Given the description of an element on the screen output the (x, y) to click on. 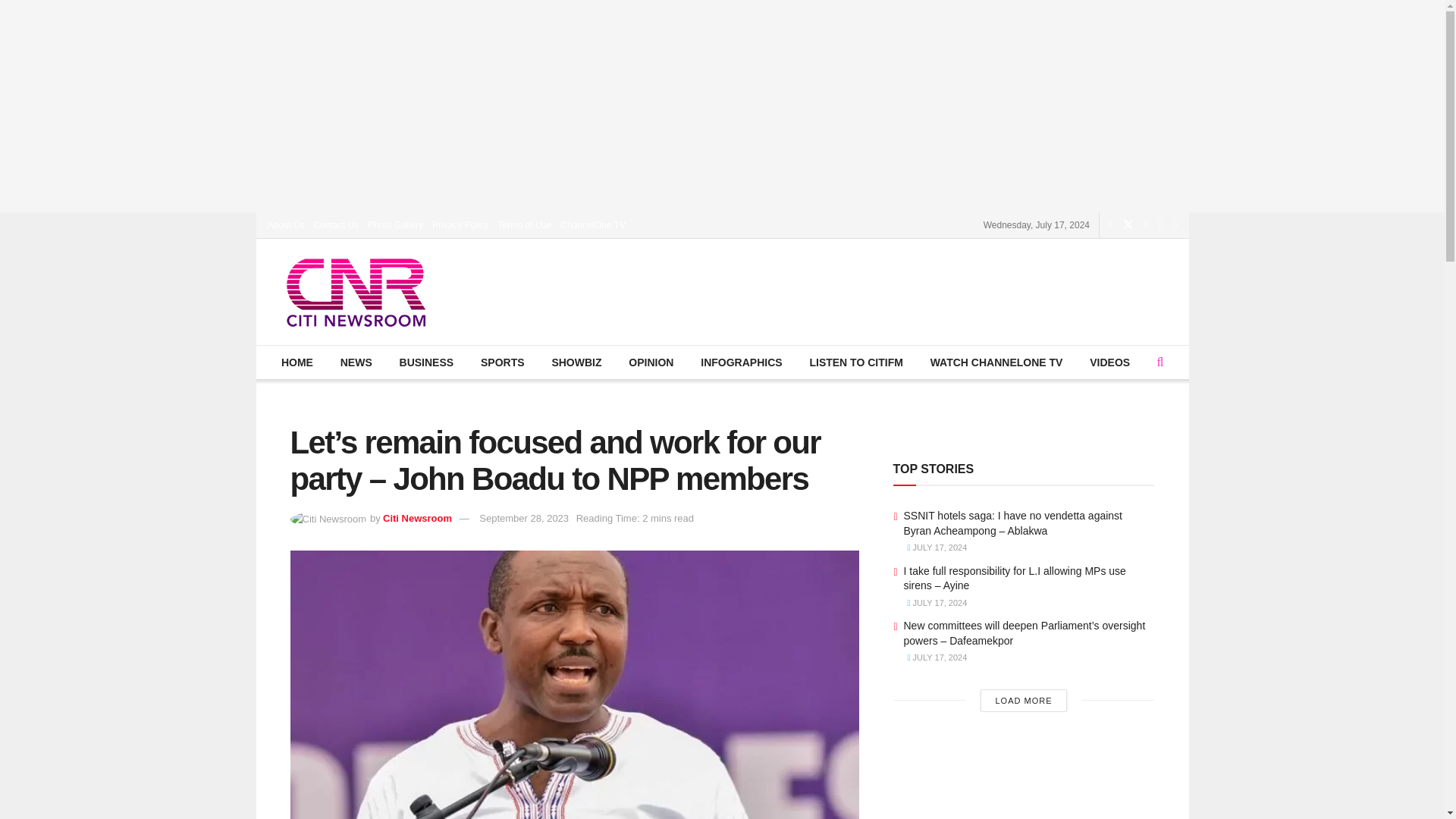
Terms of Use (524, 225)
HOME (296, 362)
Photo Gallery (395, 225)
Privacy Policy (460, 225)
OPINION (651, 362)
Contact Us (336, 225)
BUSINESS (425, 362)
About Us (285, 225)
VIDEOS (1109, 362)
INFOGRAPHICS (740, 362)
LISTEN TO CITIFM (855, 362)
ChannelOne TV (593, 225)
WATCH CHANNELONE TV (996, 362)
SHOWBIZ (576, 362)
NEWS (355, 362)
